Given the description of an element on the screen output the (x, y) to click on. 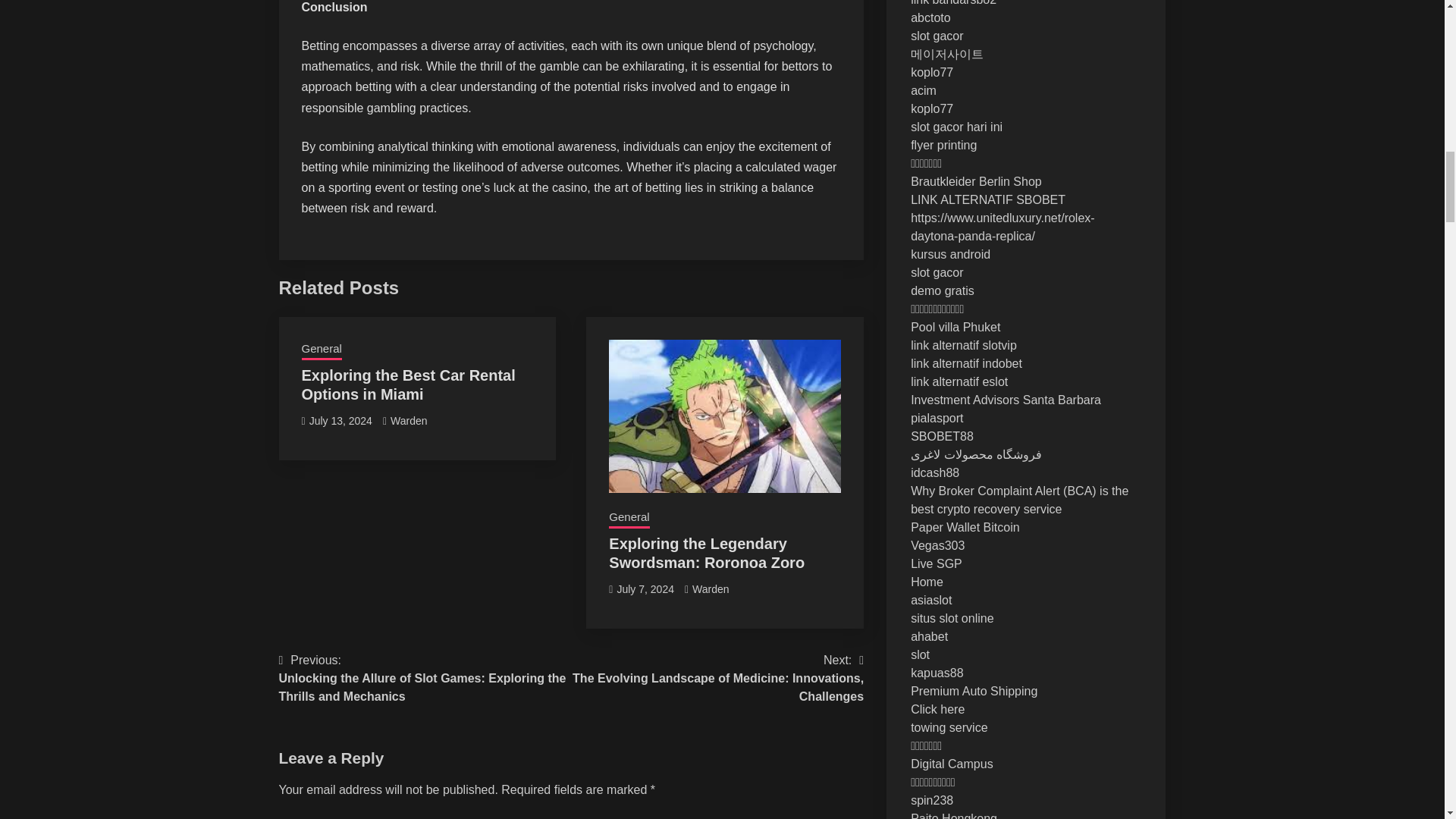
Warden (711, 589)
Exploring the Legendary Swordsman: Roronoa Zoro (706, 552)
July 7, 2024 (644, 589)
July 13, 2024 (340, 420)
General (628, 518)
Warden (409, 420)
Exploring the Best Car Rental Options in Miami (408, 384)
General (321, 350)
